Given the description of an element on the screen output the (x, y) to click on. 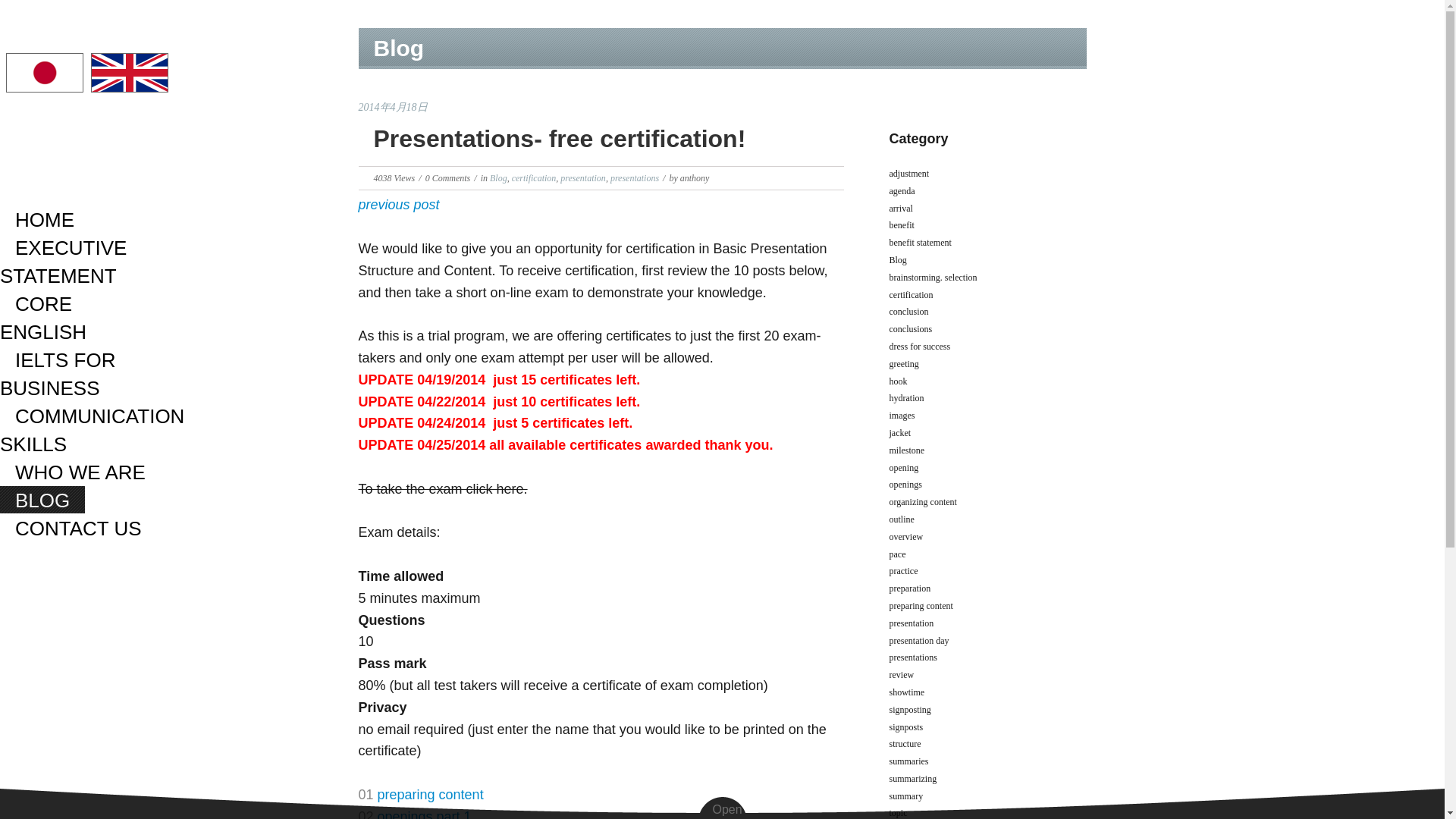
HOME (44, 218)
CORE ENGLISH (50, 316)
01 preparing content (420, 794)
adjustment (908, 173)
WHO WE ARE (80, 471)
previous post (398, 204)
BLOG (42, 499)
02 openings part 1 (414, 814)
Blog (497, 177)
presentations (634, 177)
certification (534, 177)
COMMUNICATION SKILLS (92, 429)
CONTACT US (78, 527)
EXECUTIVE STATEMENT (66, 261)
presentation (582, 177)
